Given the description of an element on the screen output the (x, y) to click on. 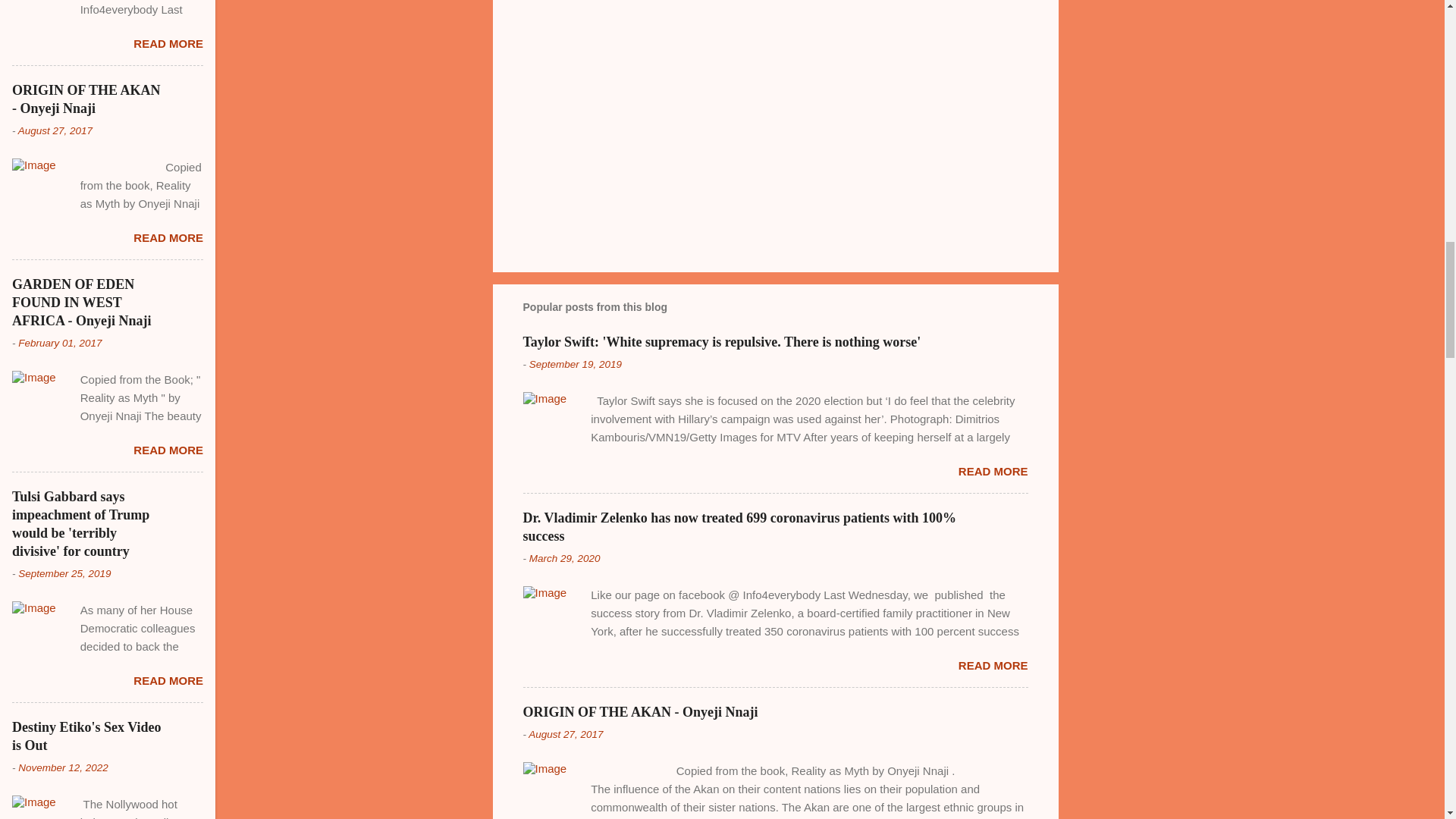
ORIGIN OF THE AKAN - Onyeji Nnaji (640, 711)
READ MORE (992, 665)
March 29, 2020 (564, 558)
September 19, 2019 (575, 364)
READ MORE (992, 471)
August 27, 2017 (565, 734)
